Given the description of an element on the screen output the (x, y) to click on. 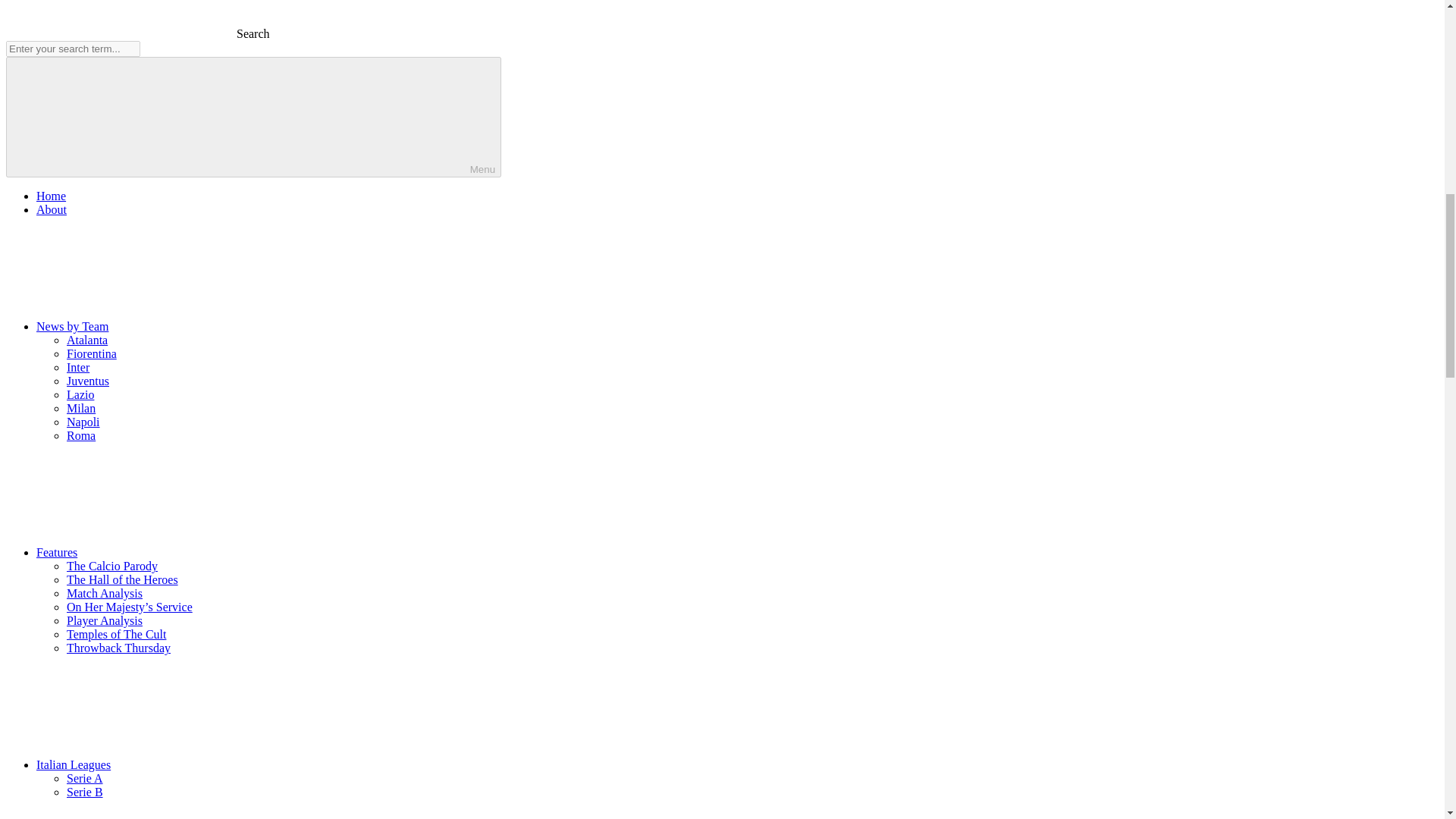
The Calcio Parody (111, 565)
Search (137, 33)
Milan (81, 408)
Serie A (84, 778)
Throwback Thursday (118, 647)
Inter (77, 367)
Atalanta (86, 339)
Home (50, 195)
Player Analysis (104, 620)
Napoli (83, 421)
Match Analysis (104, 593)
News by Team (186, 326)
Italian Leagues (186, 764)
Menu (252, 116)
Serie B (84, 791)
